Given the description of an element on the screen output the (x, y) to click on. 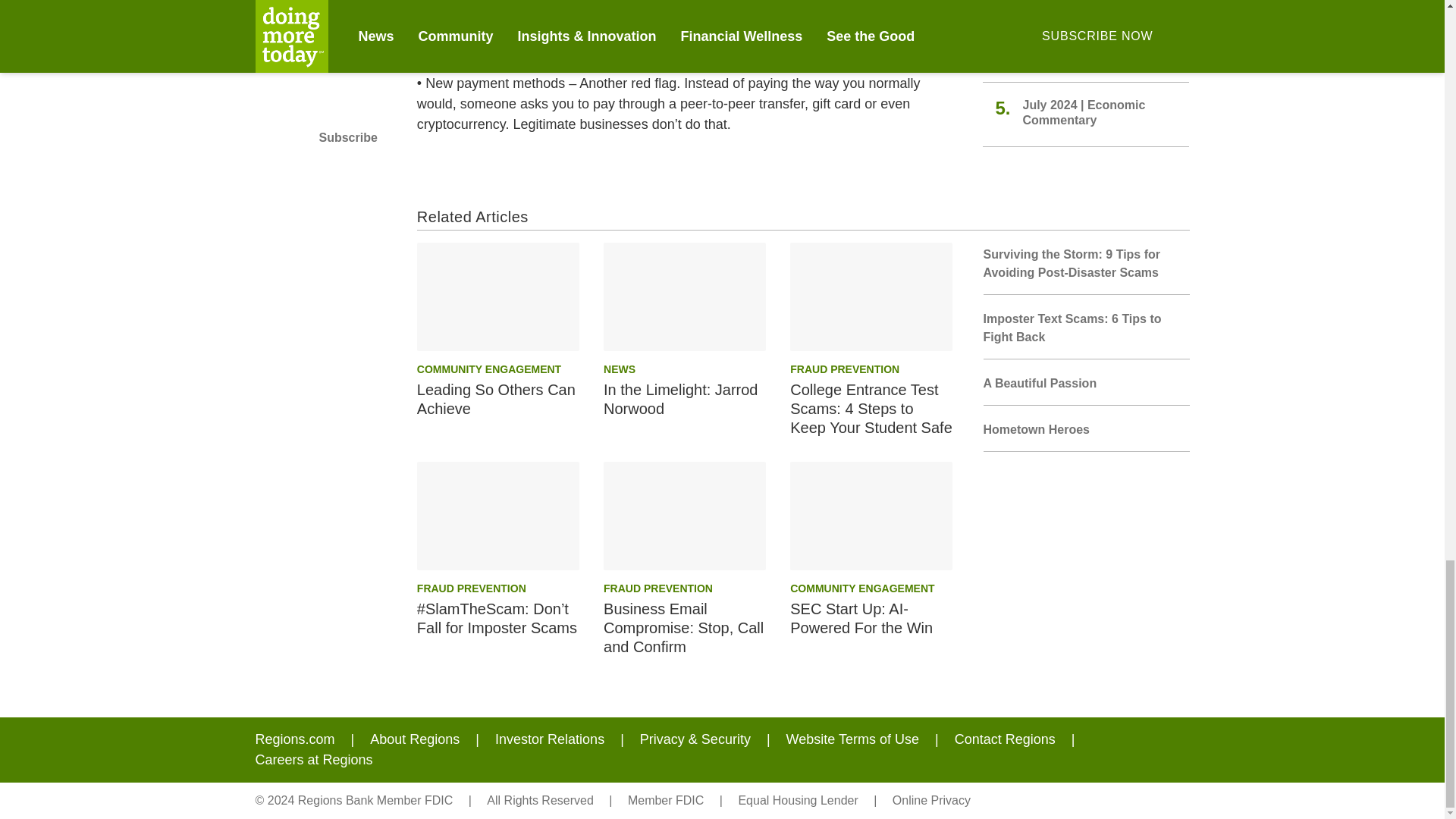
Leading So Others Can Achieve (497, 296)
SEC Start Up: AI-Powered For the Win (871, 515)
In the Limelight: Jarrod Norwood (684, 296)
Business Email Compromise: Stop, Call and Confirm (684, 515)
